Given the description of an element on the screen output the (x, y) to click on. 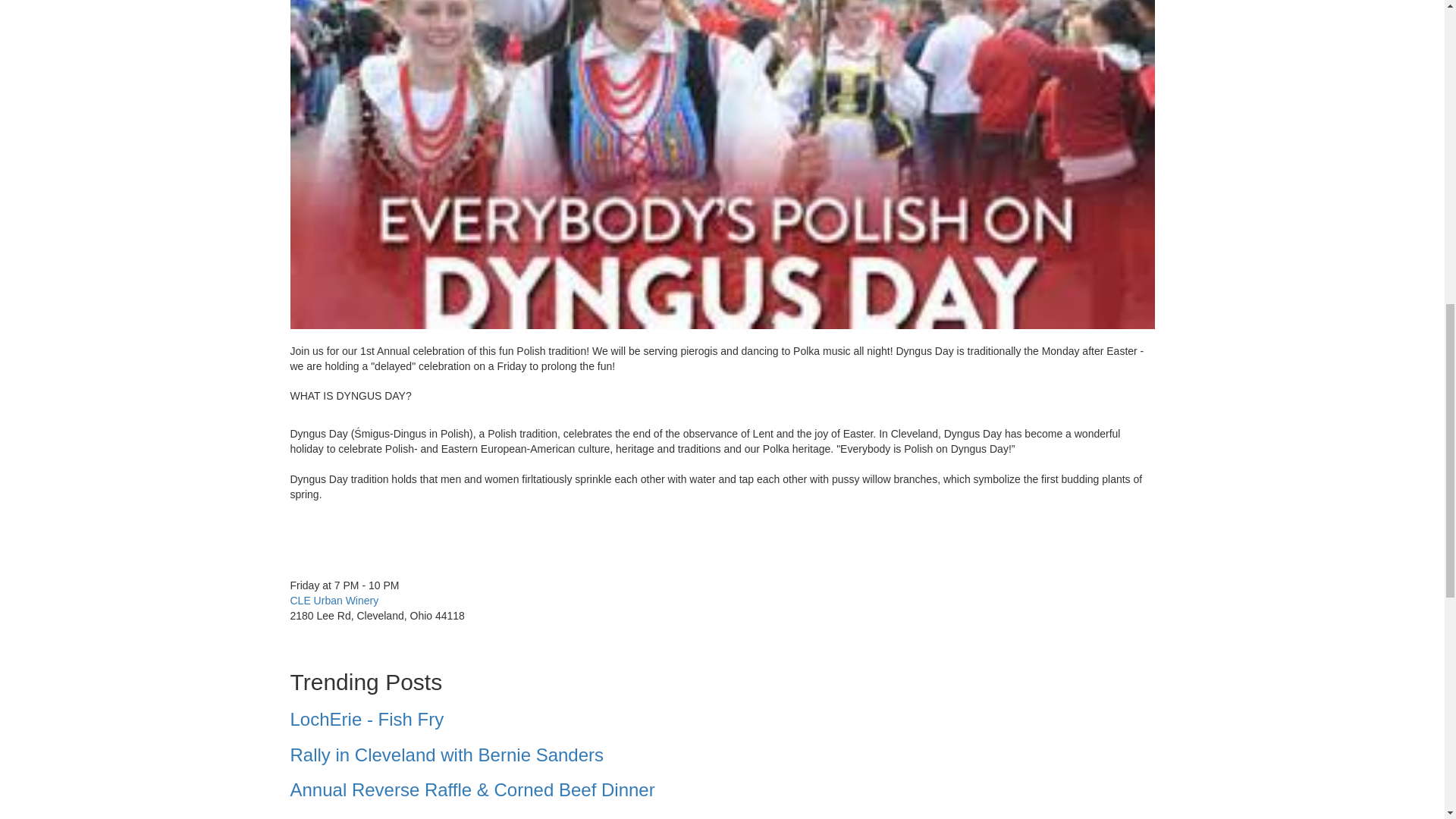
CLE Urban Winery (333, 600)
LochErie - Fish Fry (721, 719)
Rally in Cleveland with Bernie Sanders (721, 754)
